Given the description of an element on the screen output the (x, y) to click on. 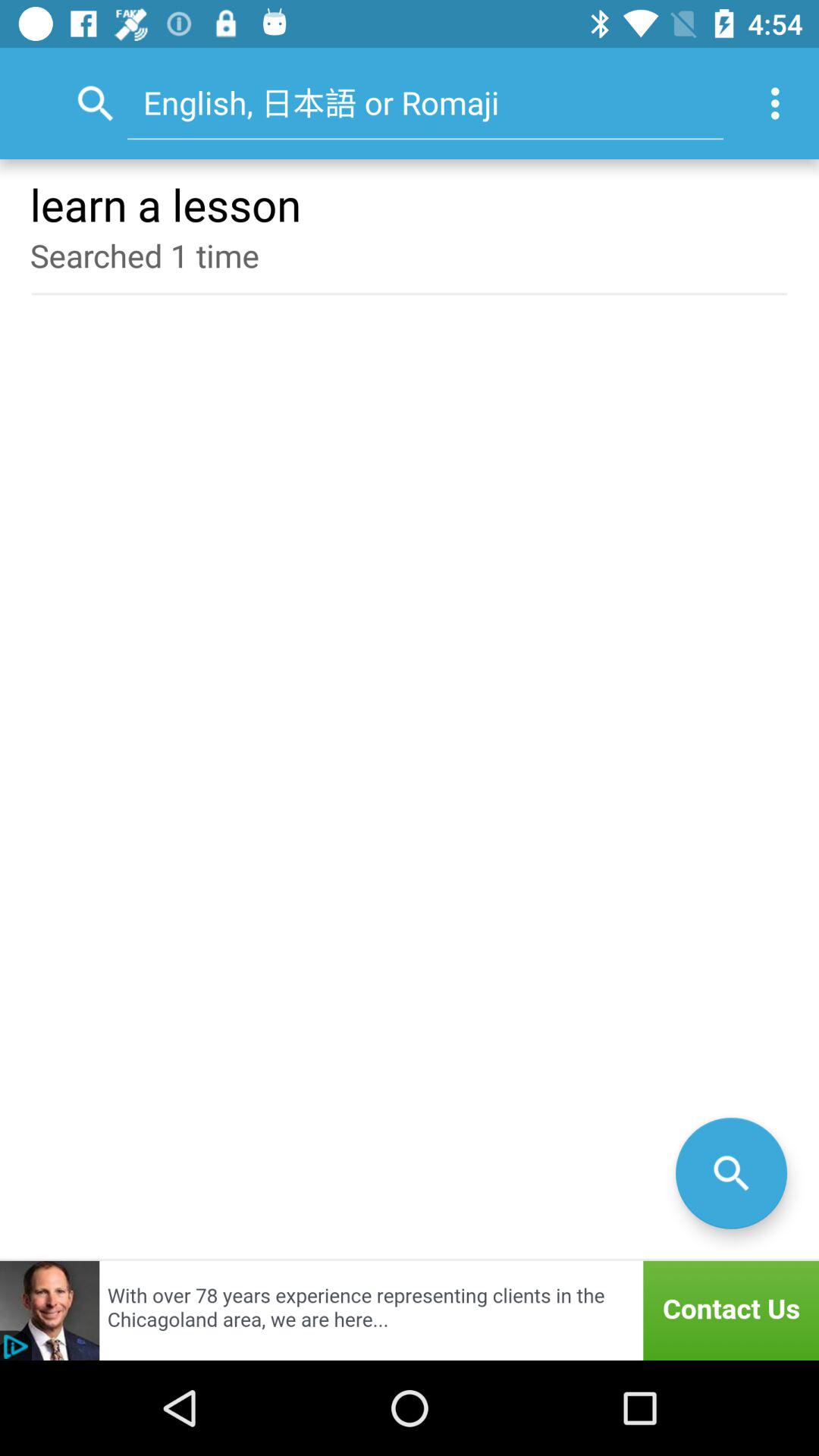
turn off icon above the learn a lesson (779, 103)
